Given the description of an element on the screen output the (x, y) to click on. 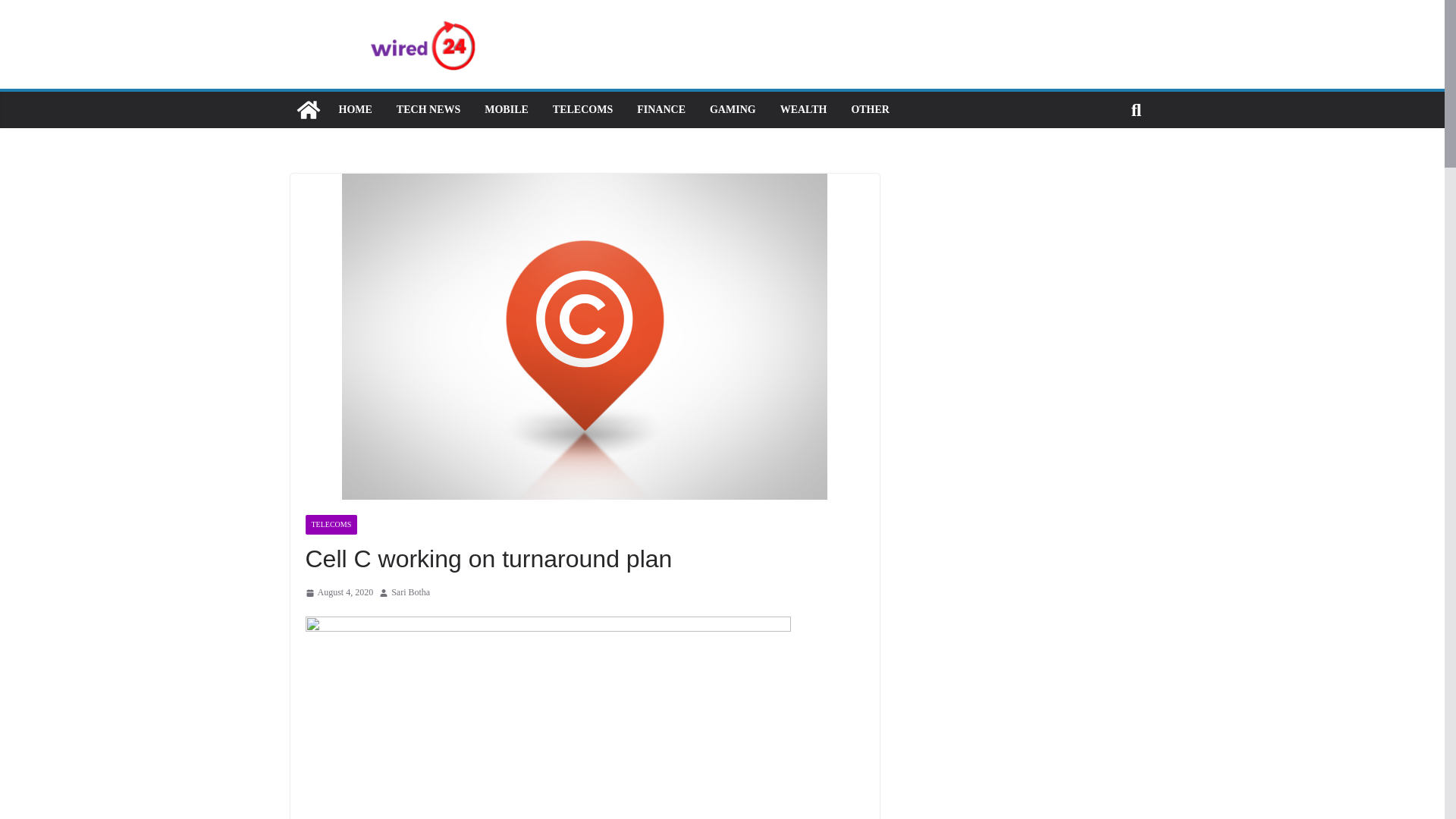
Wired24 (307, 109)
WEALTH (803, 109)
TELECOMS (582, 109)
OTHER (869, 109)
FINANCE (661, 109)
MOBILE (506, 109)
Sari Botha (410, 592)
TECH NEWS (428, 109)
HOME (354, 109)
August 4, 2020 (338, 592)
12:45 pm (338, 592)
GAMING (732, 109)
Sari Botha (410, 592)
TELECOMS (330, 524)
